Given the description of an element on the screen output the (x, y) to click on. 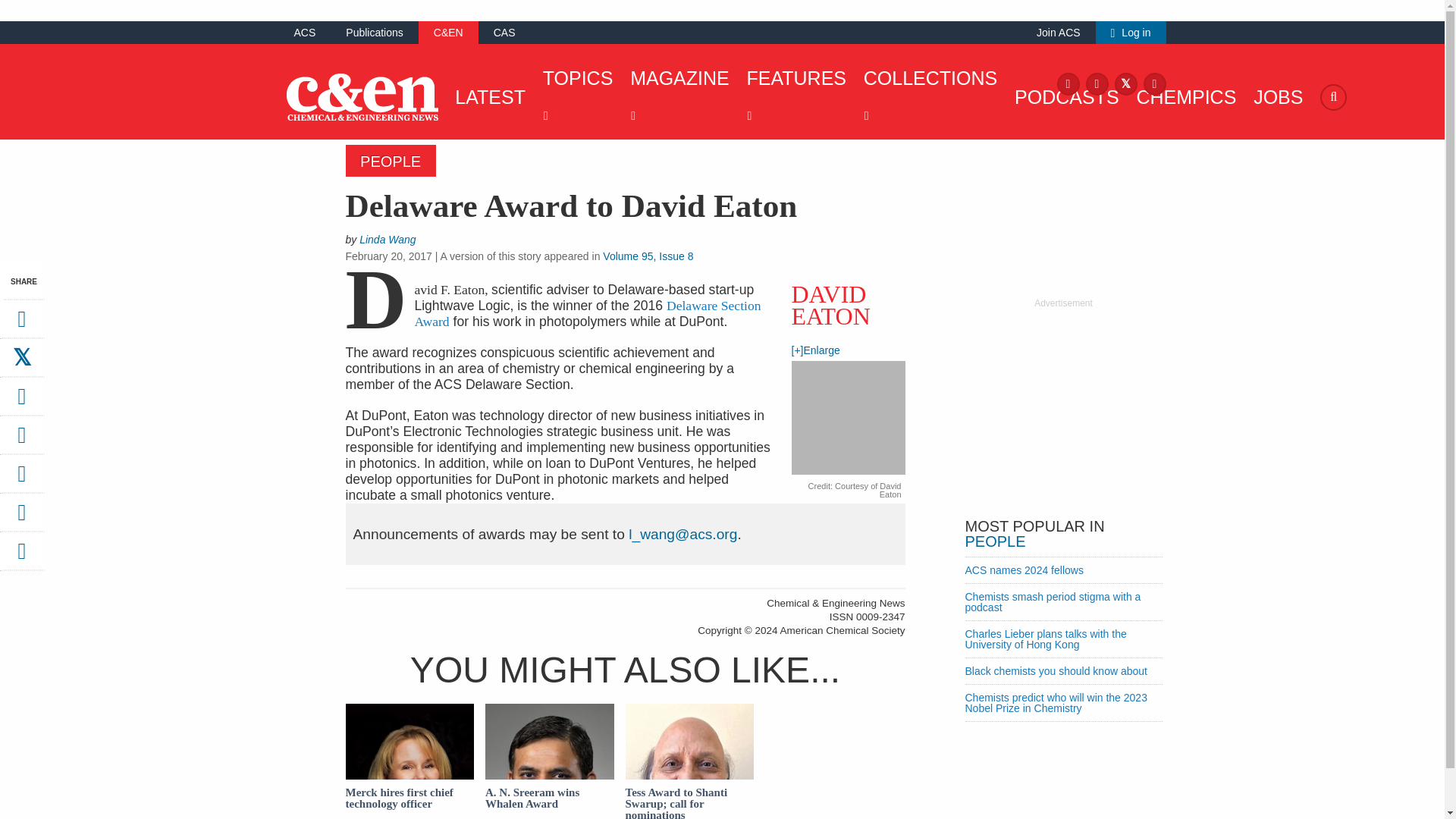
Publications (374, 32)
A photo of David Eaton. (848, 419)
Log in (1130, 32)
3rd party ad content (1062, 404)
Join ACS (1058, 32)
Delaware Section Award (586, 313)
ACS (304, 32)
LinkedIn (1154, 82)
TOPICS (573, 96)
